Given the description of an element on the screen output the (x, y) to click on. 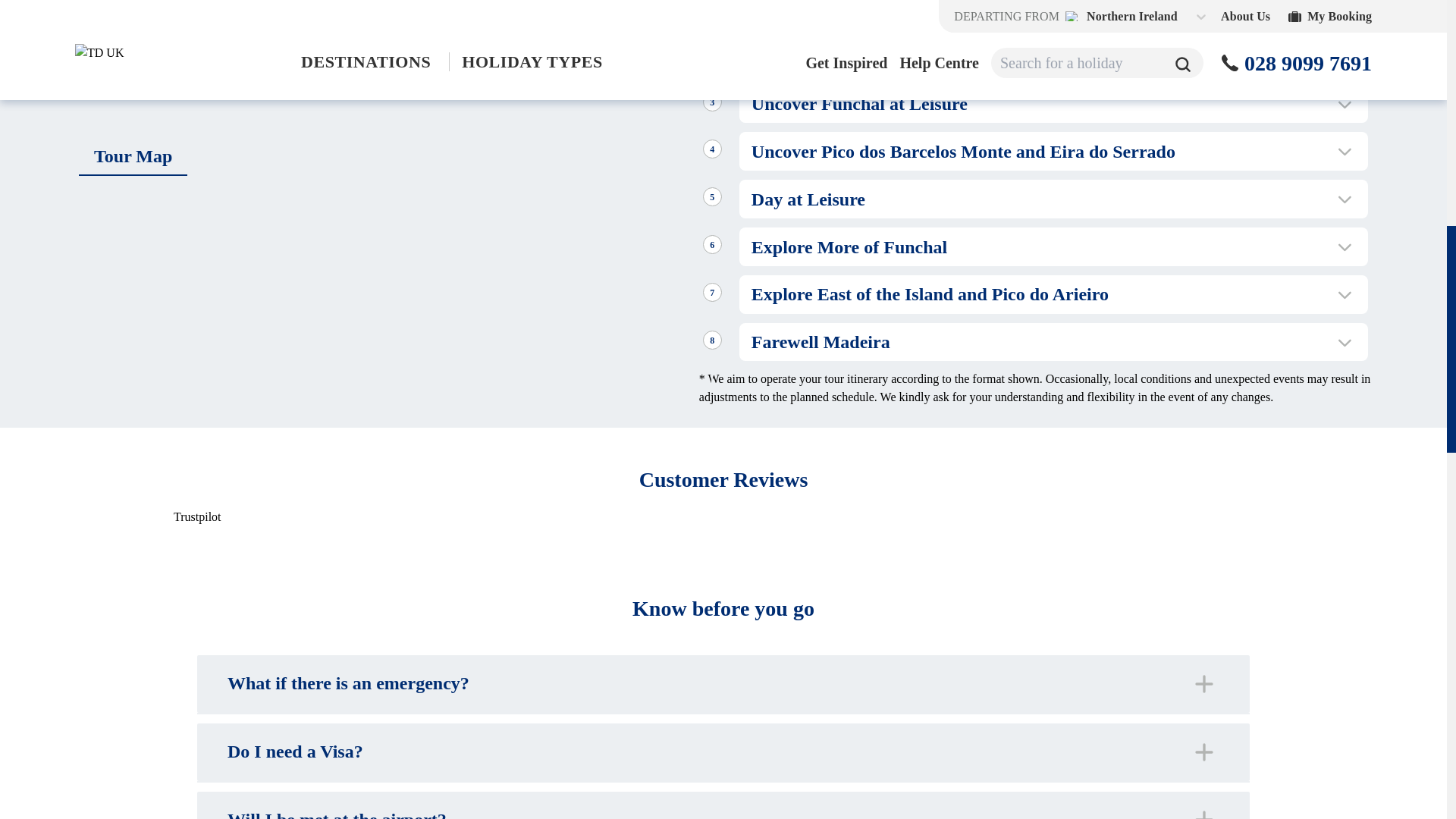
Trustpilot (197, 516)
